Given the description of an element on the screen output the (x, y) to click on. 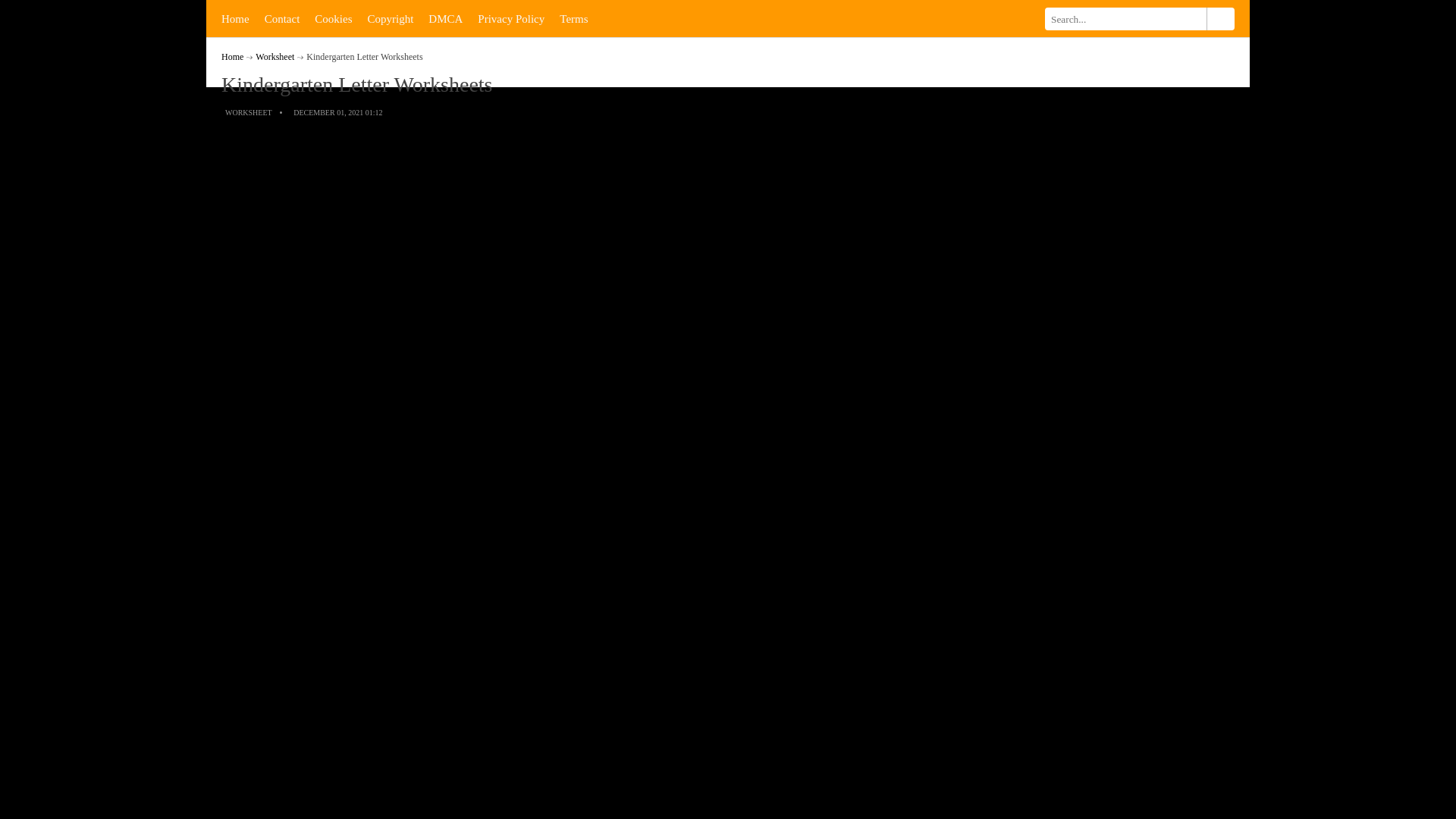
DMCA (445, 18)
WORKSHEET (248, 112)
Cookies (333, 18)
Home (232, 56)
Contact (282, 18)
Worksheet (275, 56)
Home (235, 18)
Search (1219, 18)
Terms (573, 18)
Privacy Policy (510, 18)
